Given the description of an element on the screen output the (x, y) to click on. 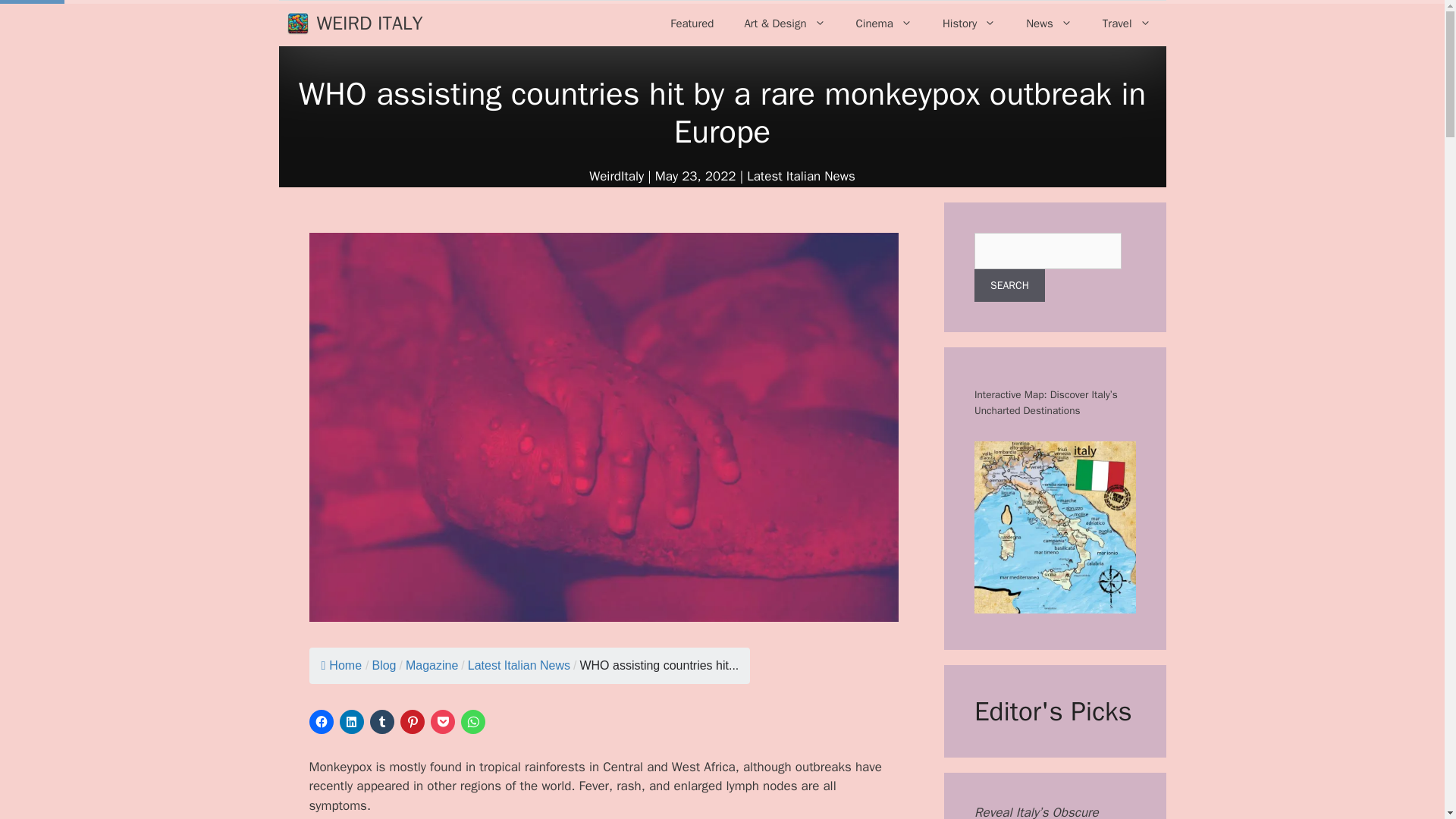
Travel (1126, 22)
Click to share on LinkedIn (351, 721)
Cinema (884, 22)
Latest Italian News (518, 665)
Click to share on Tumblr (381, 721)
News (1048, 22)
WEIRD ITALY (370, 23)
Home (341, 665)
Category Name (432, 665)
Latest Italian News (801, 176)
Blog (383, 665)
View all posts by WeirdItaly (616, 176)
History (968, 22)
